Given the description of an element on the screen output the (x, y) to click on. 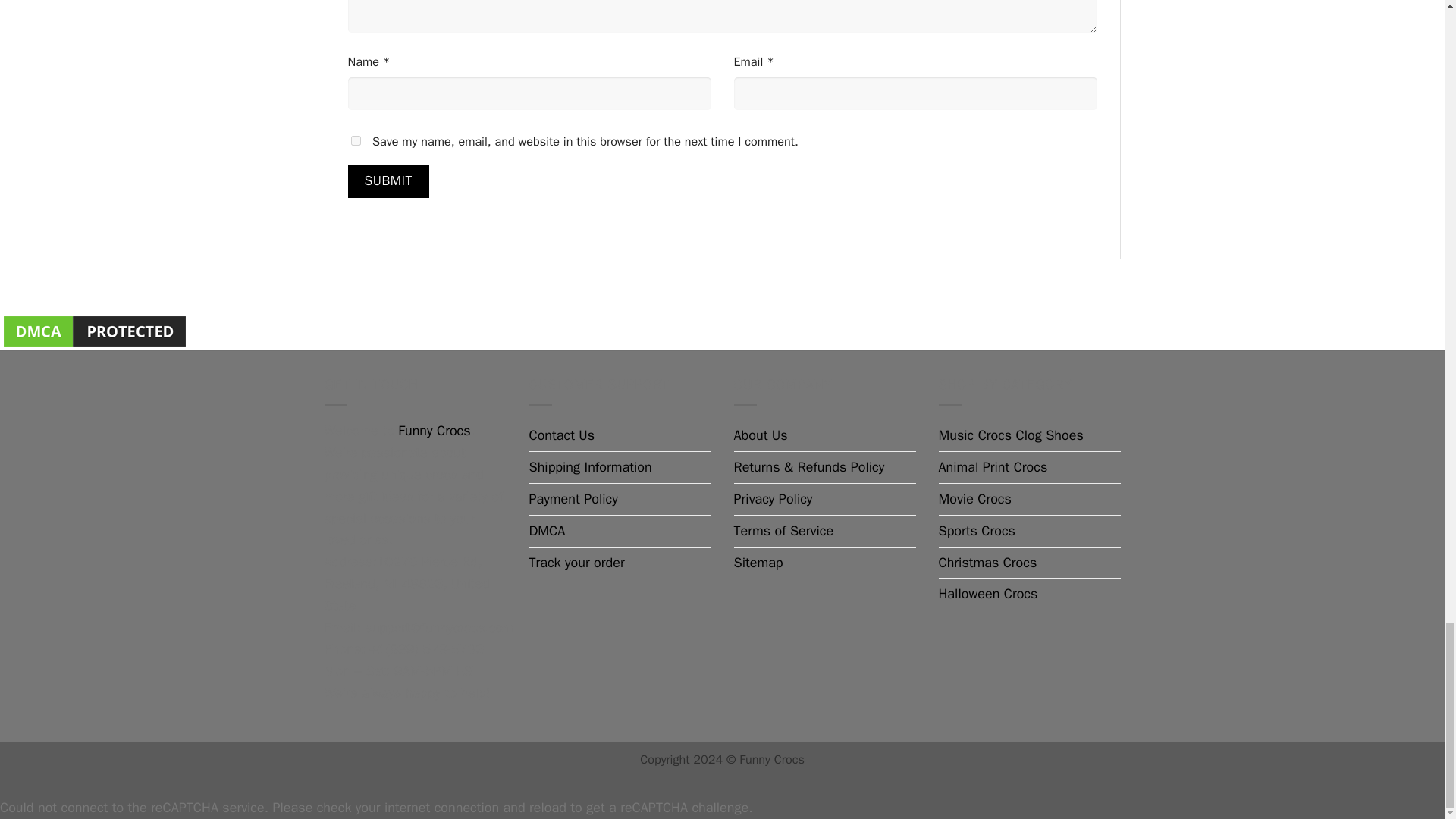
yes (354, 140)
Submit (387, 181)
